Given the description of an element on the screen output the (x, y) to click on. 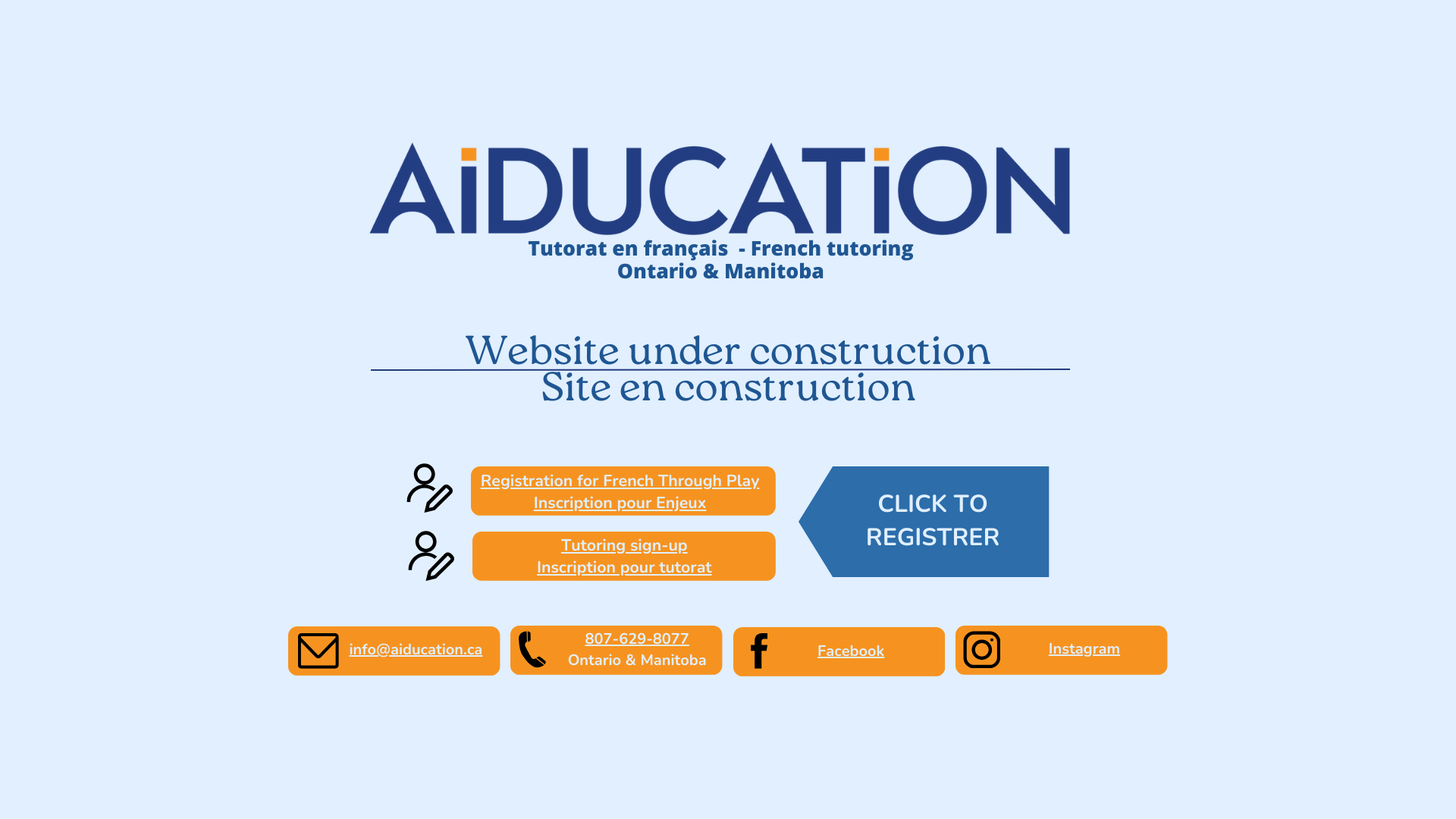
Inscription pour tutorat Element type: text (624, 566)
807-629-8077 Element type: text (637, 639)
Instagram Element type: text (1084, 649)
Tutoring sign-up Element type: text (624, 544)
info@aiducation.ca Element type: text (415, 650)
Registration for French Through Play Inscription pour Enjeux Element type: text (619, 491)
Facebook Element type: text (850, 651)
